Given the description of an element on the screen output the (x, y) to click on. 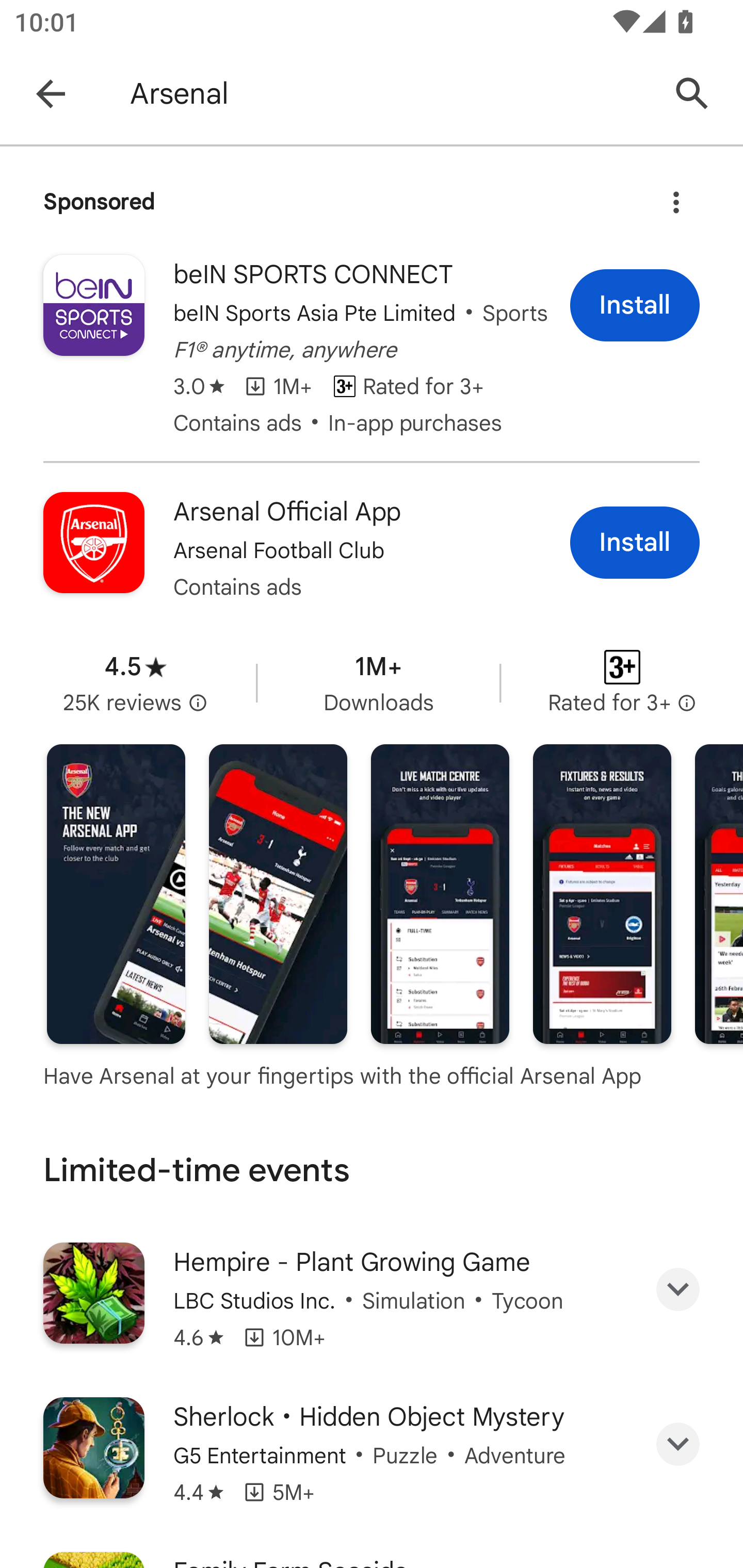
Arsenal (389, 93)
Navigate up (50, 93)
Search Google Play (692, 93)
About this ad (676, 196)
Install (634, 304)
Install (634, 542)
Average rating 4.5 stars in 25 thousand reviews (135, 682)
Downloaded 1 million plus times (378, 682)
Content rating Rated for 3+ (622, 682)
Screenshot "1" of "7" (115, 894)
Screenshot "2" of "7" (277, 894)
Screenshot "3" of "7" (439, 894)
Screenshot "4" of "7" (601, 894)
Expand content for Hempire - Plant Growing Game (677, 1289)
Expand content for Sherlock・Hidden Object Mystery (677, 1444)
